Given the description of an element on the screen output the (x, y) to click on. 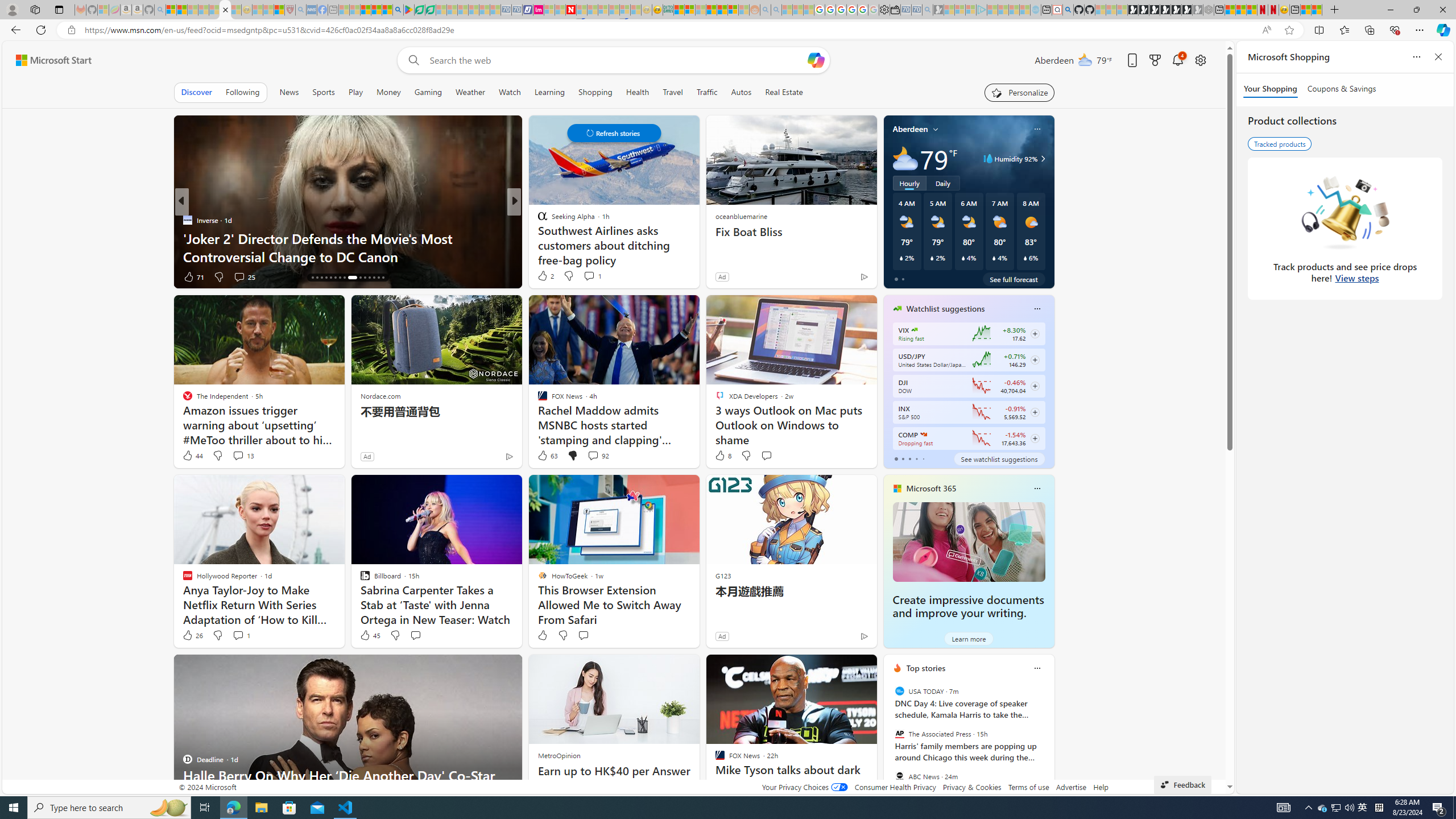
Web search (411, 60)
next (1047, 741)
MetroOpinion (558, 755)
Watch (509, 92)
Address and search bar (669, 29)
Class: weather-current-precipitation-glyph (1024, 257)
Business Insider (537, 219)
AutomationID: tab-27 (368, 277)
Robert H. Shmerling, MD - Harvard Health - Sleeping (289, 9)
Create impressive documents and improve your writing. (967, 606)
Enter your search term (617, 59)
